Given the description of an element on the screen output the (x, y) to click on. 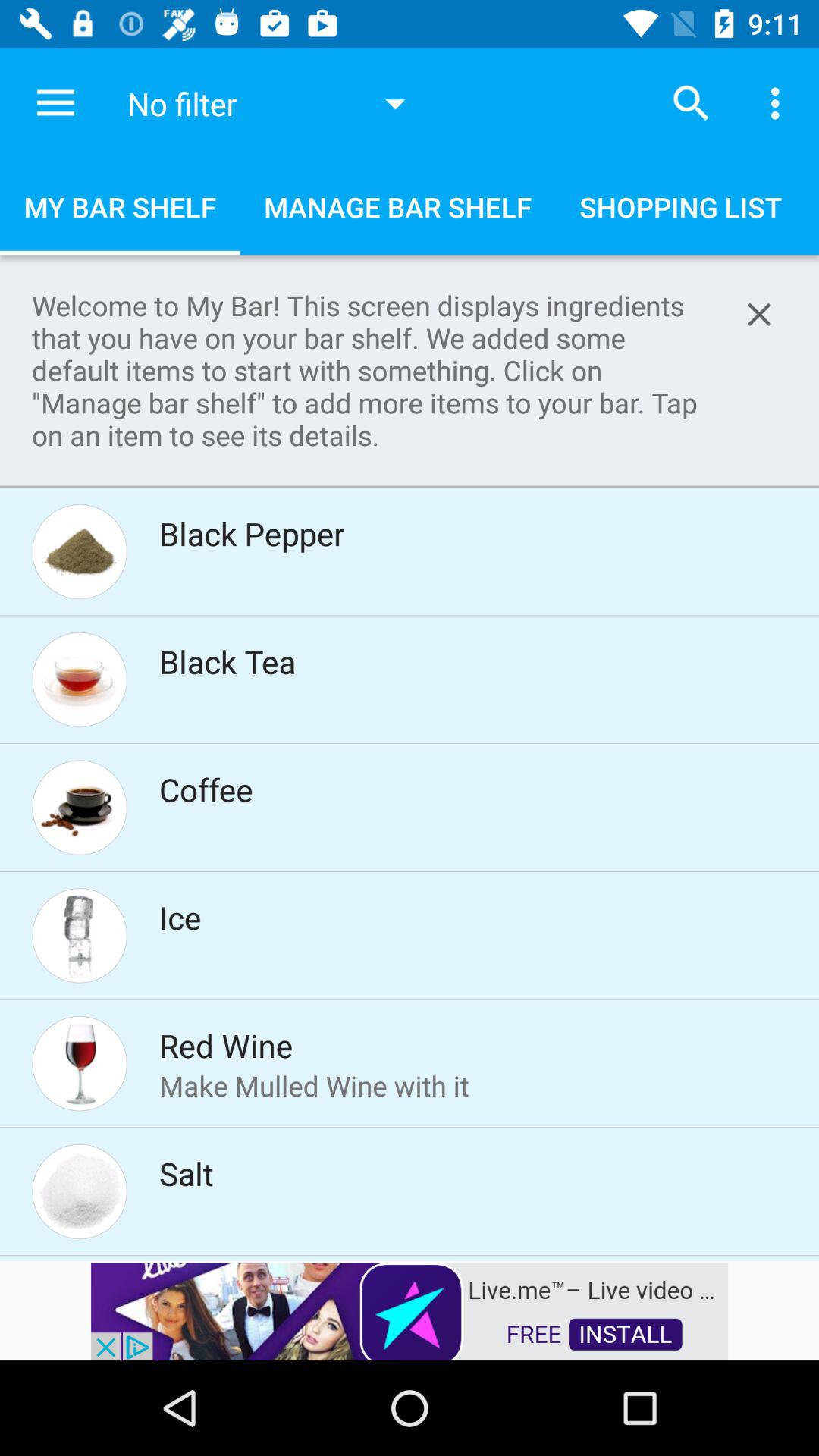
close oftion (759, 314)
